Given the description of an element on the screen output the (x, y) to click on. 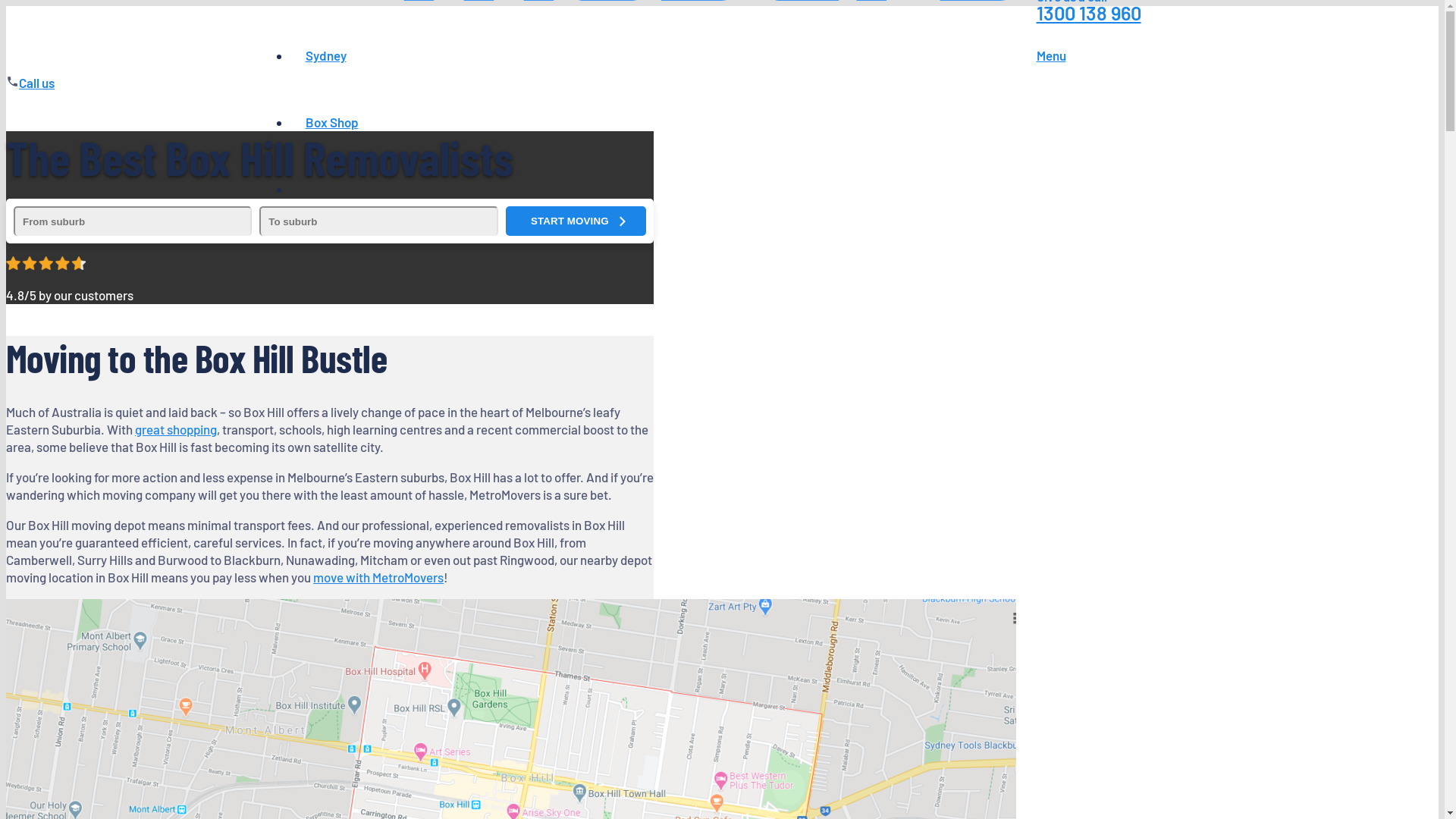
Menu Element type: text (1087, 54)
Box Shop Element type: text (331, 121)
great shopping Element type: text (175, 428)
Call us Element type: text (36, 82)
stars-4-8 Element type: hover (45, 262)
move with MetroMovers Element type: text (378, 576)
Sydney Element type: text (324, 54)
START MOVING Element type: text (575, 220)
1300 138 960 Element type: text (1087, 12)
